Given the description of an element on the screen output the (x, y) to click on. 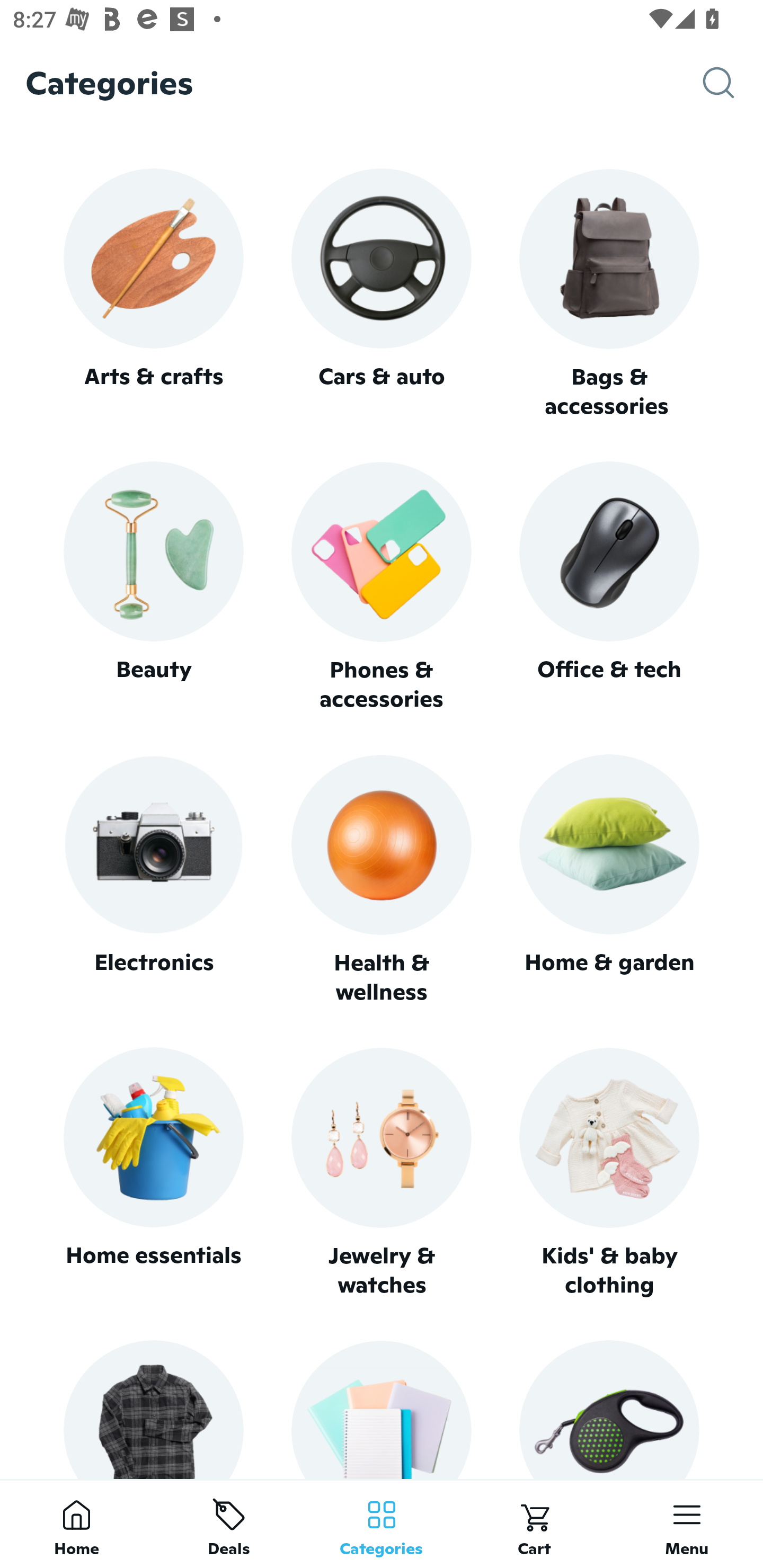
Search (732, 82)
Arts & crafts (153, 293)
Cars & auto (381, 293)
Bags & accessories  (609, 294)
Beauty (153, 586)
Office & tech (609, 586)
Phones & accessories (381, 587)
Electronics (153, 880)
Home & garden (609, 880)
Health & wellness (381, 880)
Home essentials (153, 1172)
Jewelry & watches (381, 1172)
Kids' & baby clothing (609, 1172)
Men's clothing (153, 1409)
Pet supplies (609, 1409)
Office & school supplies (381, 1409)
Home (76, 1523)
Deals (228, 1523)
Categories (381, 1523)
Cart (533, 1523)
Menu (686, 1523)
